Given the description of an element on the screen output the (x, y) to click on. 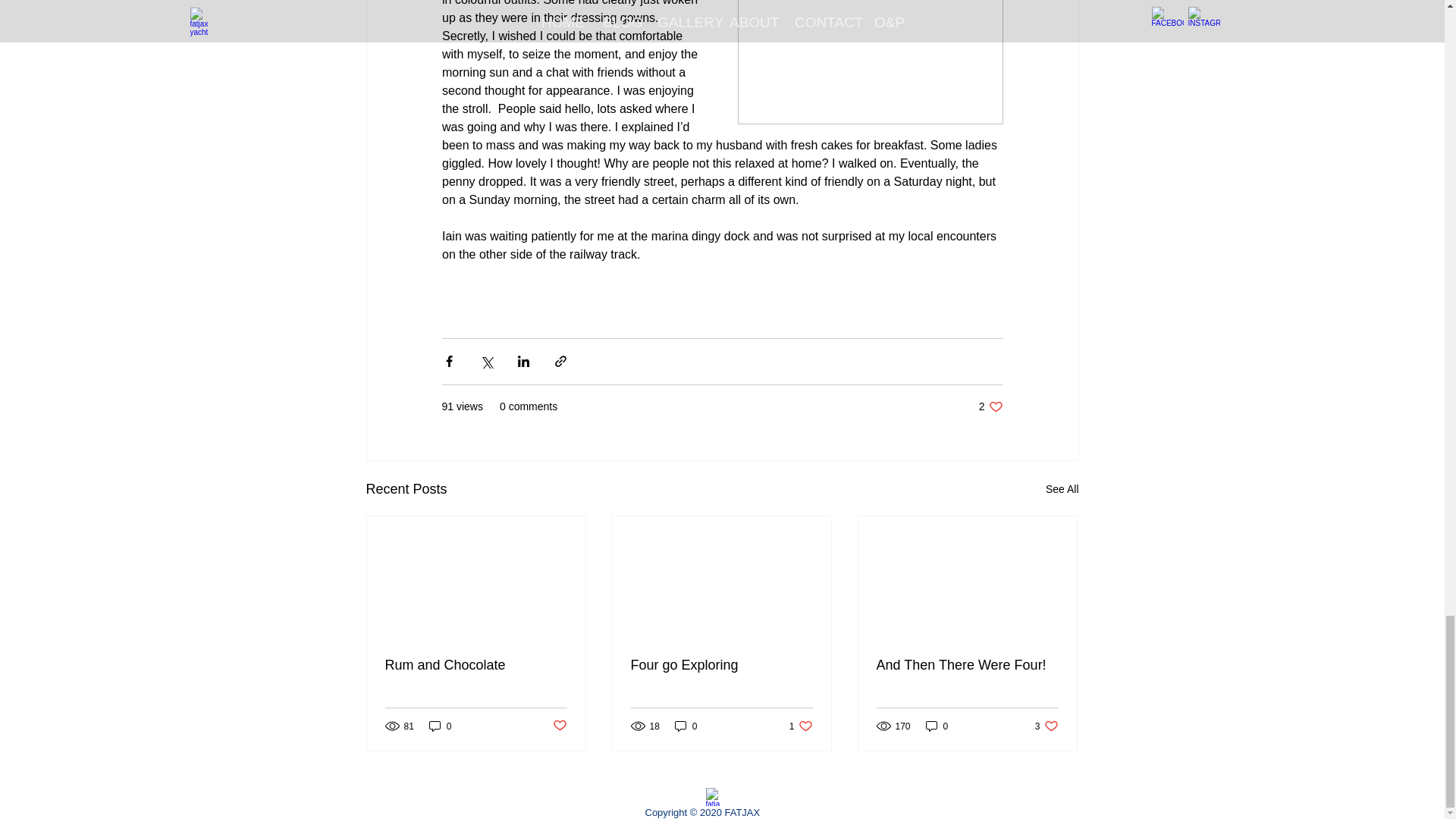
And Then There Were Four! (967, 665)
0 (440, 726)
See All (1061, 489)
0 (685, 726)
0 (937, 726)
Rum and Chocolate (476, 665)
Post not marked as liked (558, 725)
Four go Exploring (800, 726)
